Given the description of an element on the screen output the (x, y) to click on. 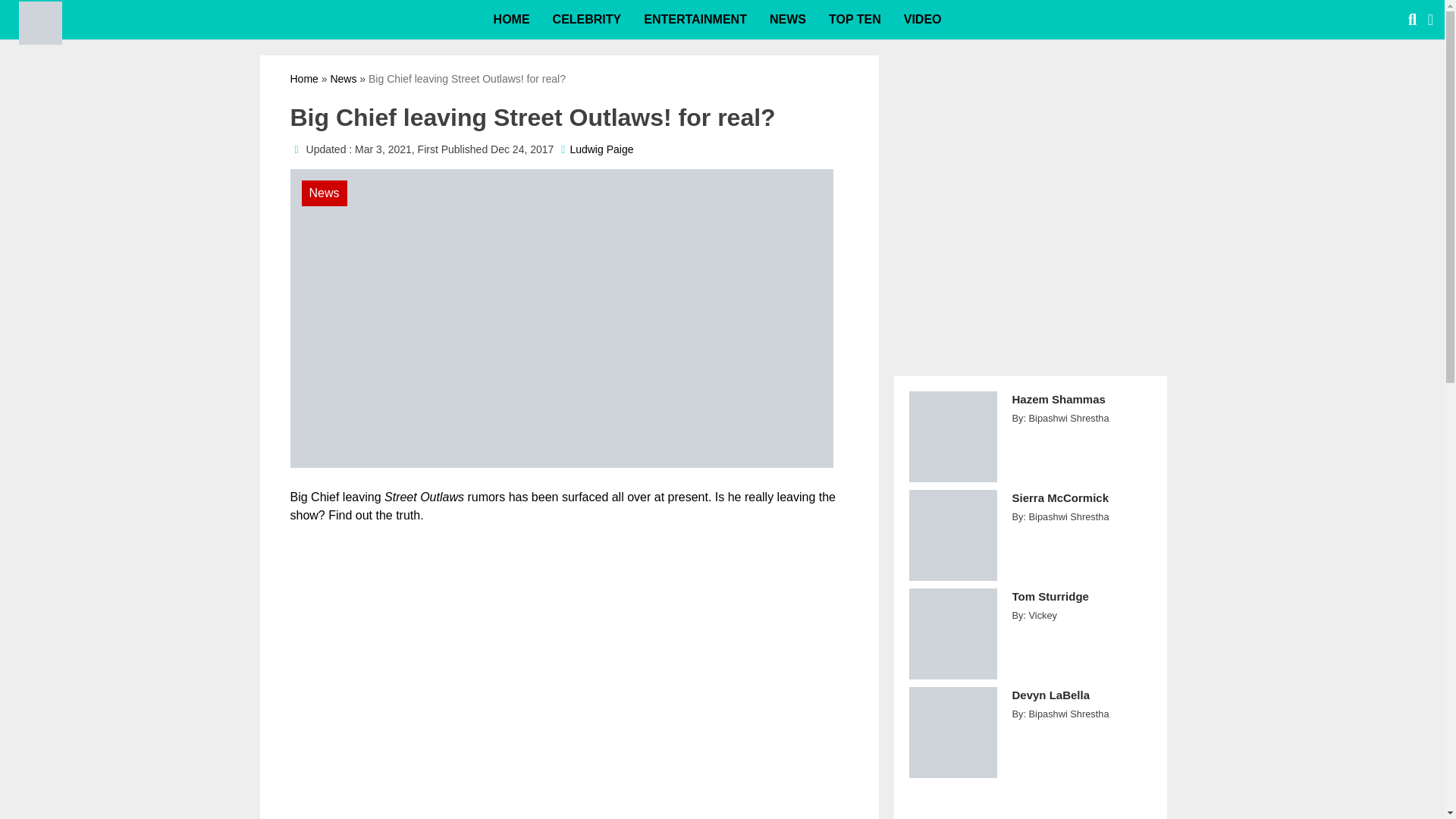
Tom Sturridge (1081, 604)
VIDEO (922, 19)
ENTERTAINMENT (694, 19)
Sierra McCormick (1081, 505)
Ludwig Paige (601, 149)
HOME (511, 19)
Home (303, 78)
Hazem Shammas (1081, 407)
Ludwig Paige (601, 149)
